Given the description of an element on the screen output the (x, y) to click on. 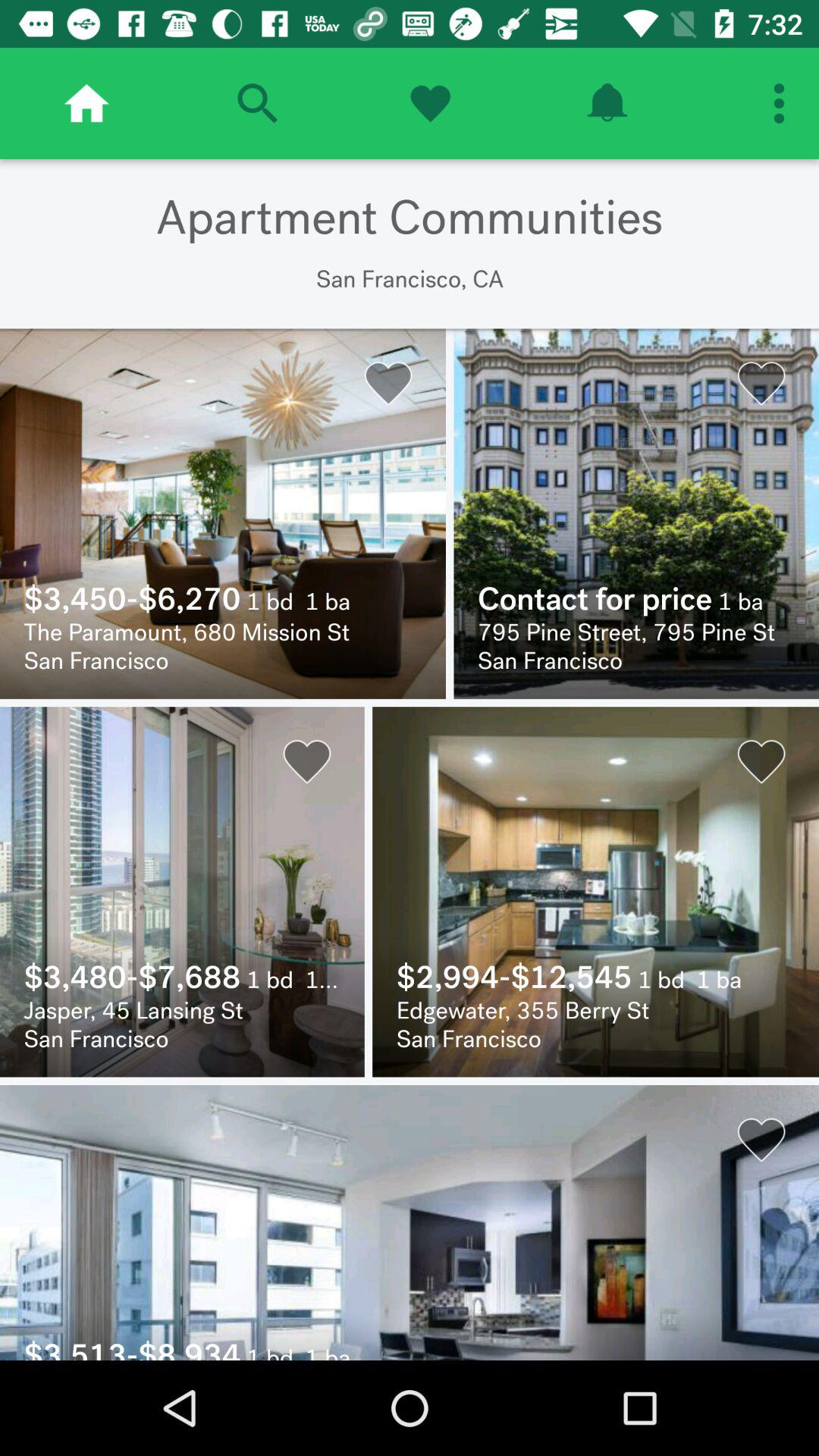
alart option (606, 103)
